Given the description of an element on the screen output the (x, y) to click on. 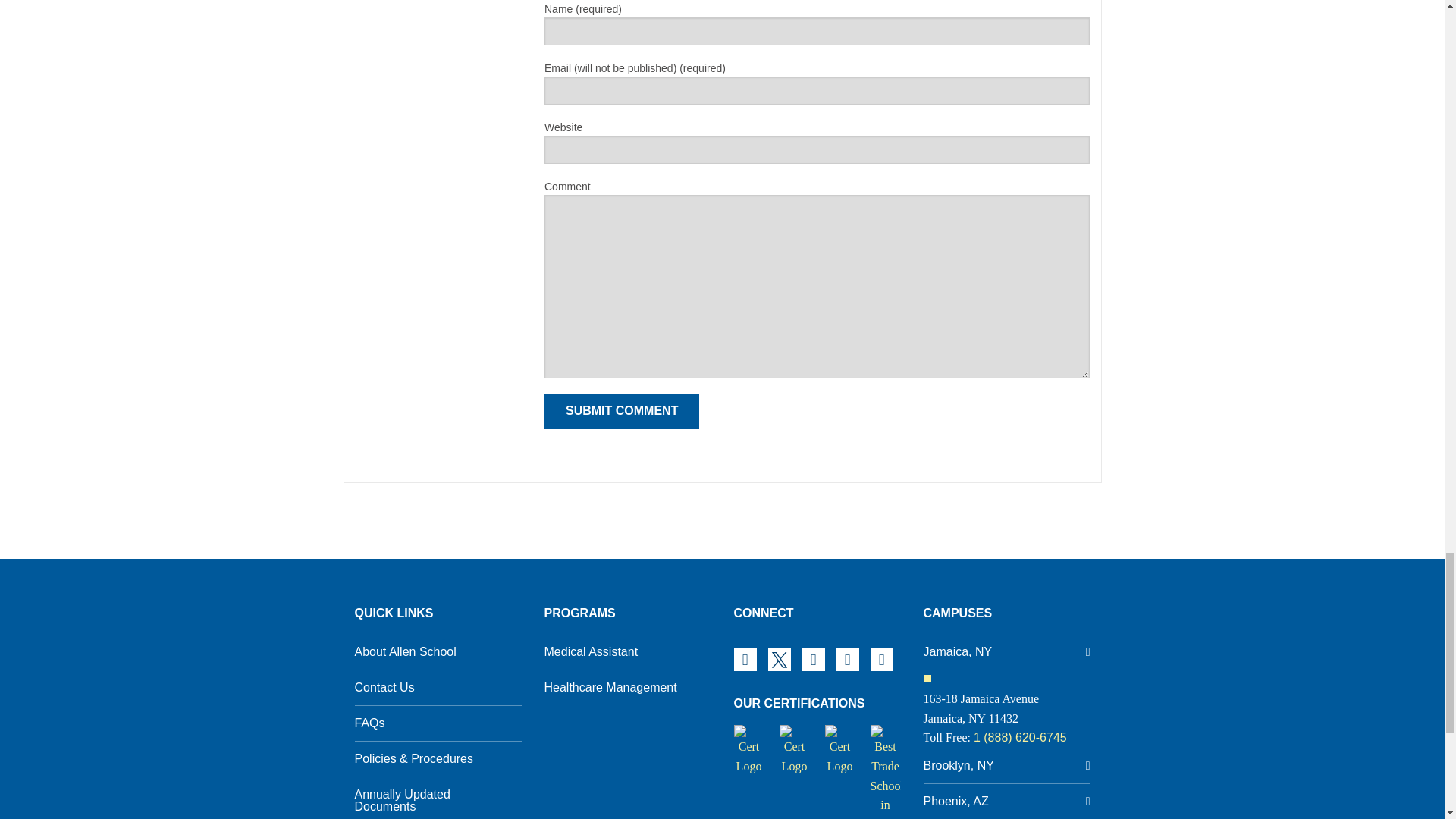
Submit Comment (621, 411)
Best Trade Schools in Phoenix (885, 778)
